Given the description of an element on the screen output the (x, y) to click on. 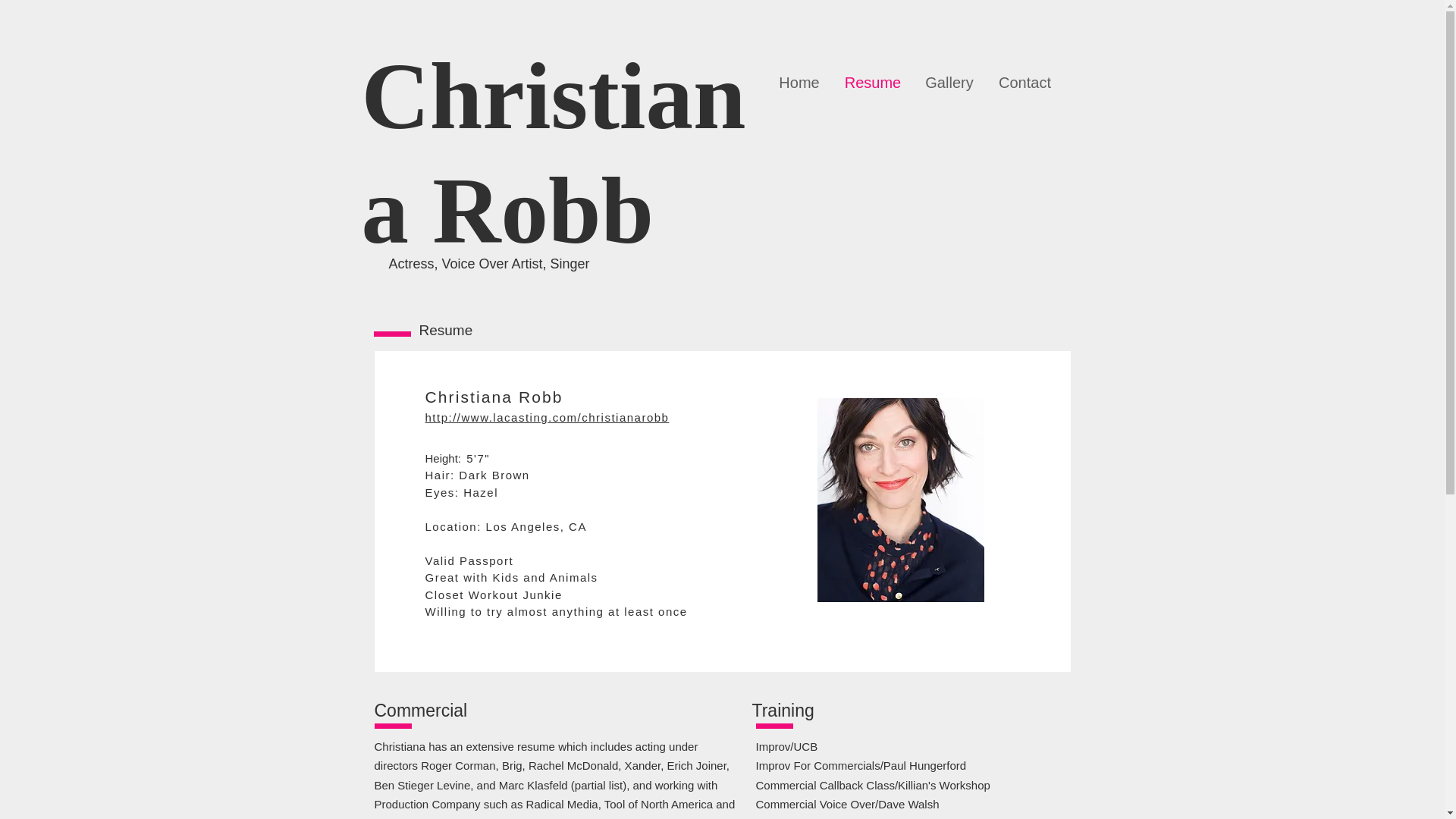
Christiana Robb (553, 153)
Contact (1024, 82)
Gallery (948, 82)
Home (798, 82)
Resume (873, 82)
